Given the description of an element on the screen output the (x, y) to click on. 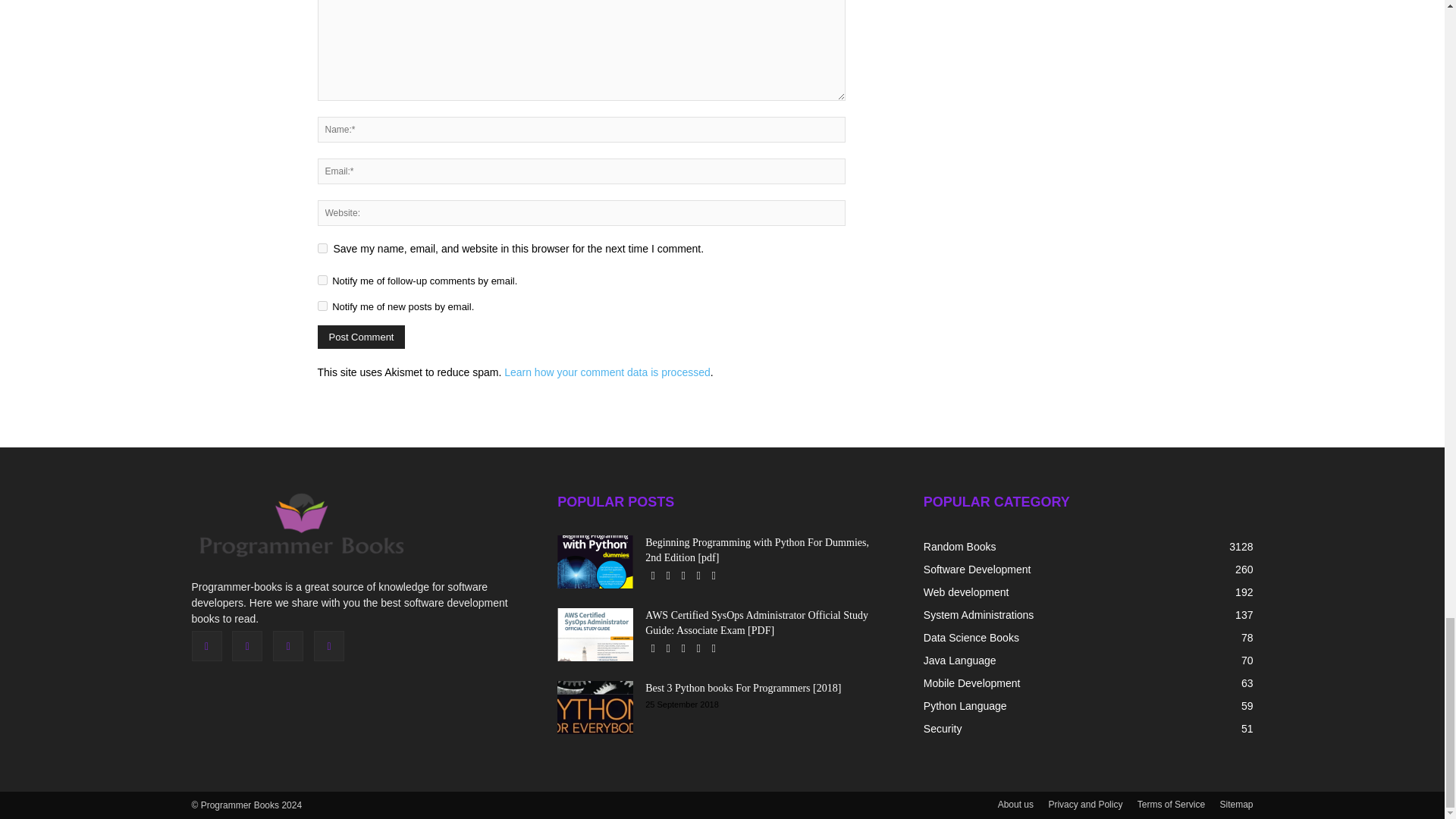
yes (321, 248)
subscribe (321, 280)
Post Comment (360, 336)
subscribe (321, 306)
